Given the description of an element on the screen output the (x, y) to click on. 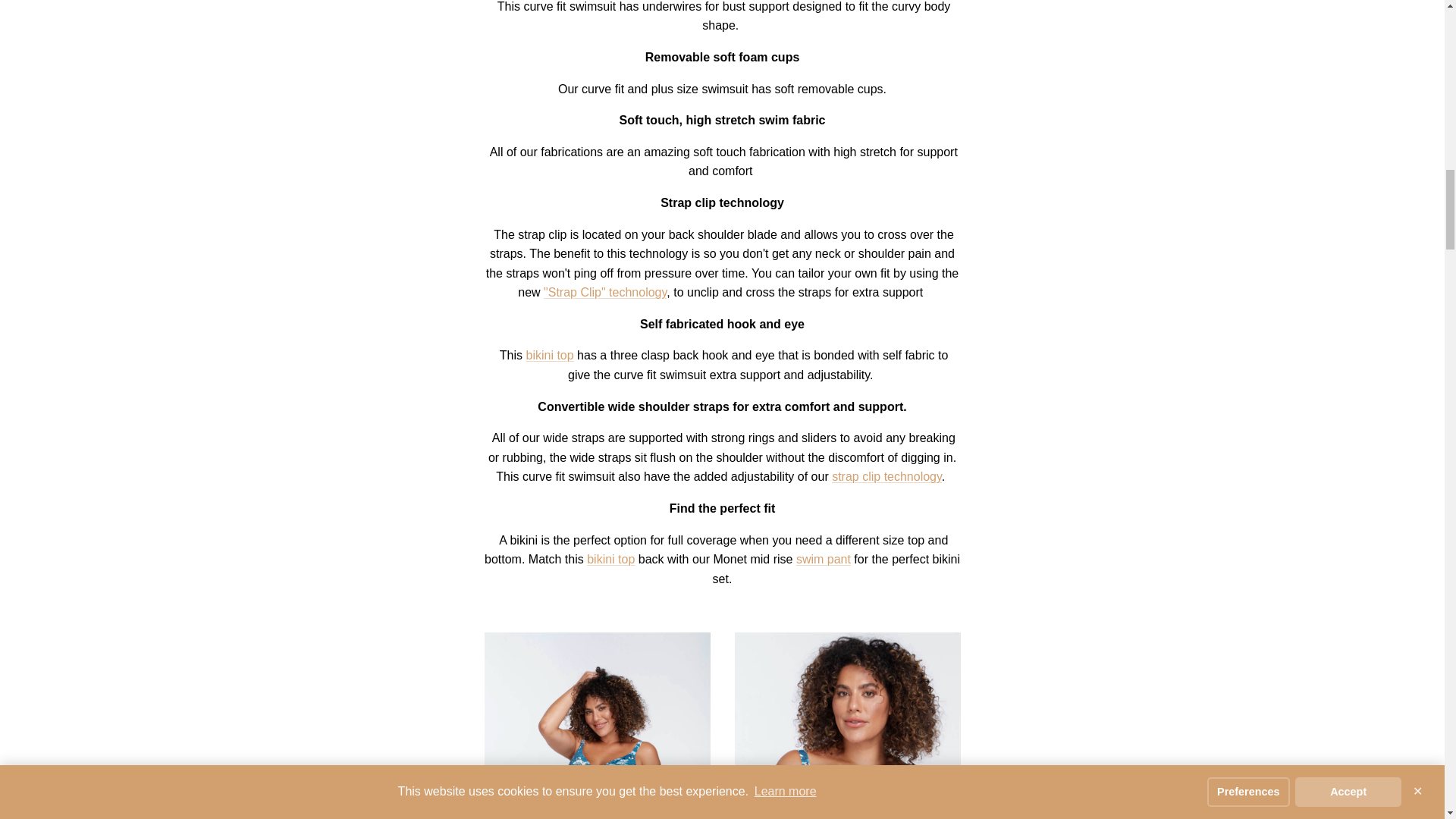
Artesands Curve Plus Size Bikini Top (610, 558)
Artesands Curve Plus Size Swim Pant Swimwear (823, 558)
Artesands Curve Plus Size Bikini Top (549, 354)
Artesands Curve Plus Size Strap Clip Technology Swimwear (604, 291)
Artesands Curve Plus Size Strap Clip Technology Swimwear (886, 476)
